Given the description of an element on the screen output the (x, y) to click on. 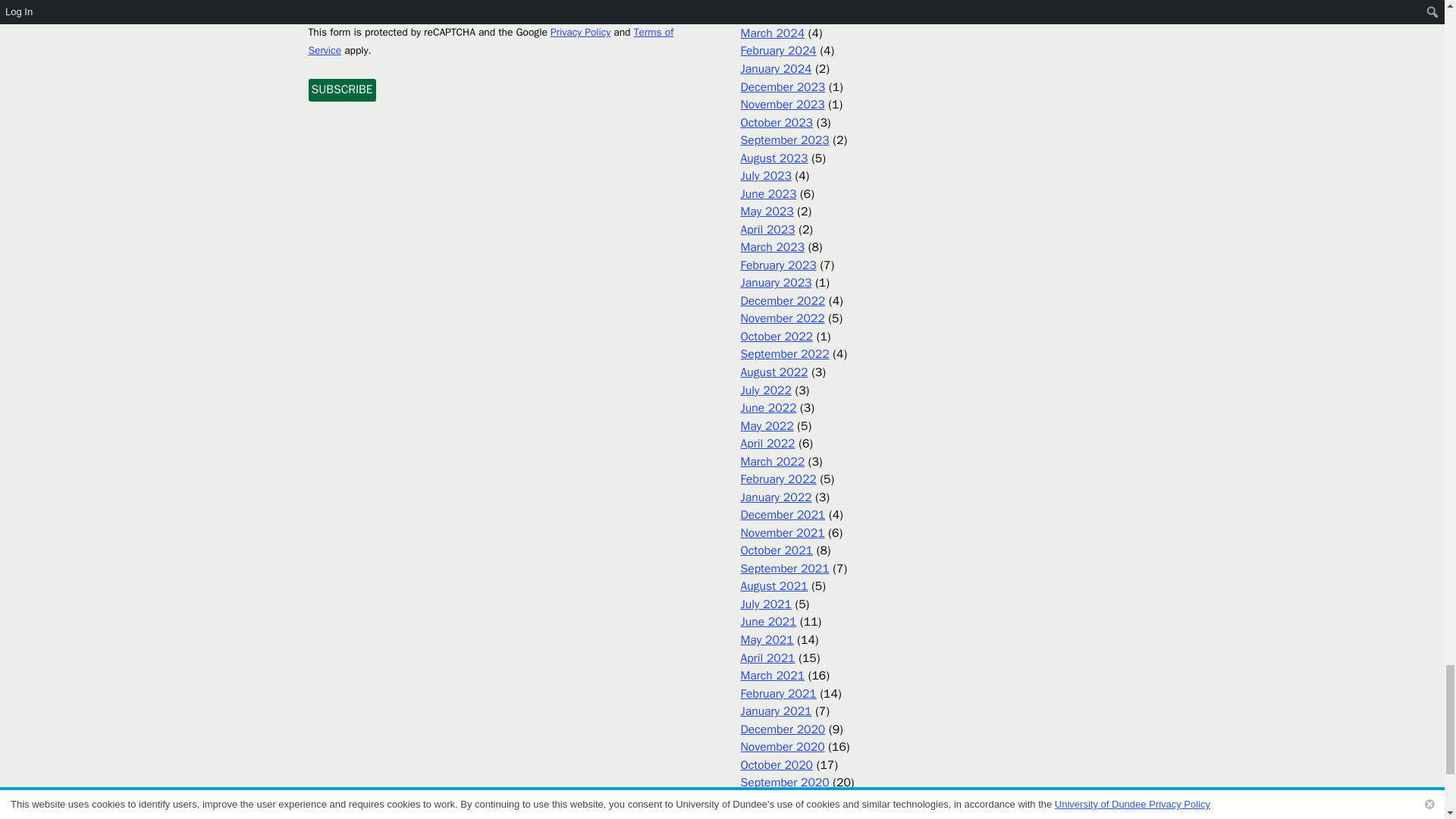
Subscribe (341, 89)
